Given the description of an element on the screen output the (x, y) to click on. 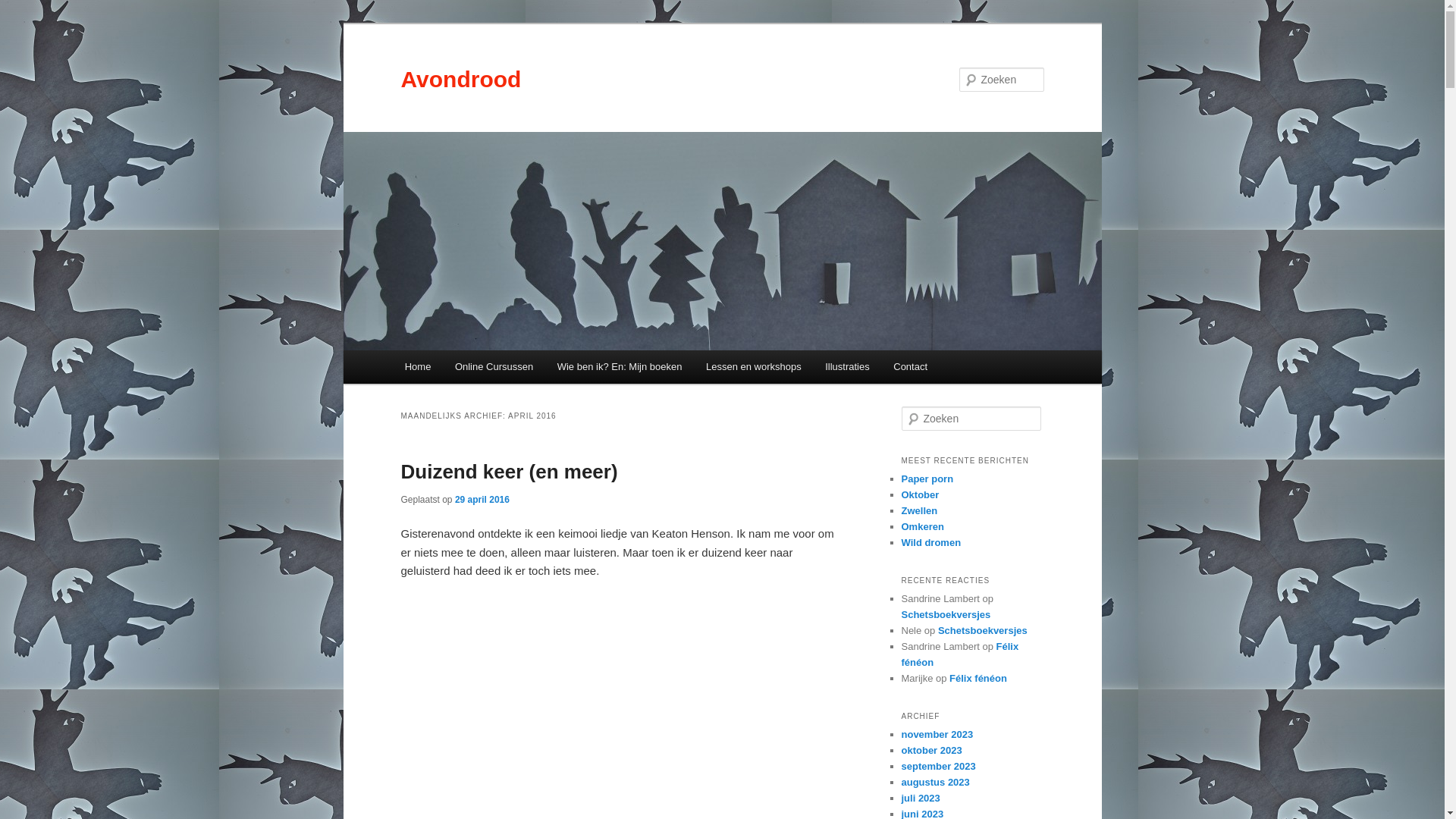
juli 2023 Element type: text (919, 797)
Wie ben ik? En: Mijn boeken Element type: text (619, 366)
29 april 2016 Element type: text (482, 499)
Duizend keer (en meer) Element type: text (508, 471)
Contact Element type: text (909, 366)
Home Element type: text (417, 366)
augustus 2023 Element type: text (934, 781)
Schetsboekversjes Element type: text (945, 614)
Spring naar de primaire inhoud Element type: text (491, 369)
oktober 2023 Element type: text (930, 750)
november 2023 Element type: text (936, 734)
Oktober Element type: text (919, 494)
Lessen en workshops Element type: text (752, 366)
Wild dromen Element type: text (930, 542)
Zwellen Element type: text (918, 510)
Zoeken Element type: text (25, 8)
Zoeken Element type: text (21, 10)
Spring naar de secundaire inhoud Element type: text (499, 369)
Online Cursussen Element type: text (493, 366)
september 2023 Element type: text (937, 765)
Omkeren Element type: text (921, 526)
Illustraties Element type: text (846, 366)
Paper porn Element type: text (926, 478)
Schetsboekversjes Element type: text (982, 630)
Avondrood Element type: text (460, 78)
